Given the description of an element on the screen output the (x, y) to click on. 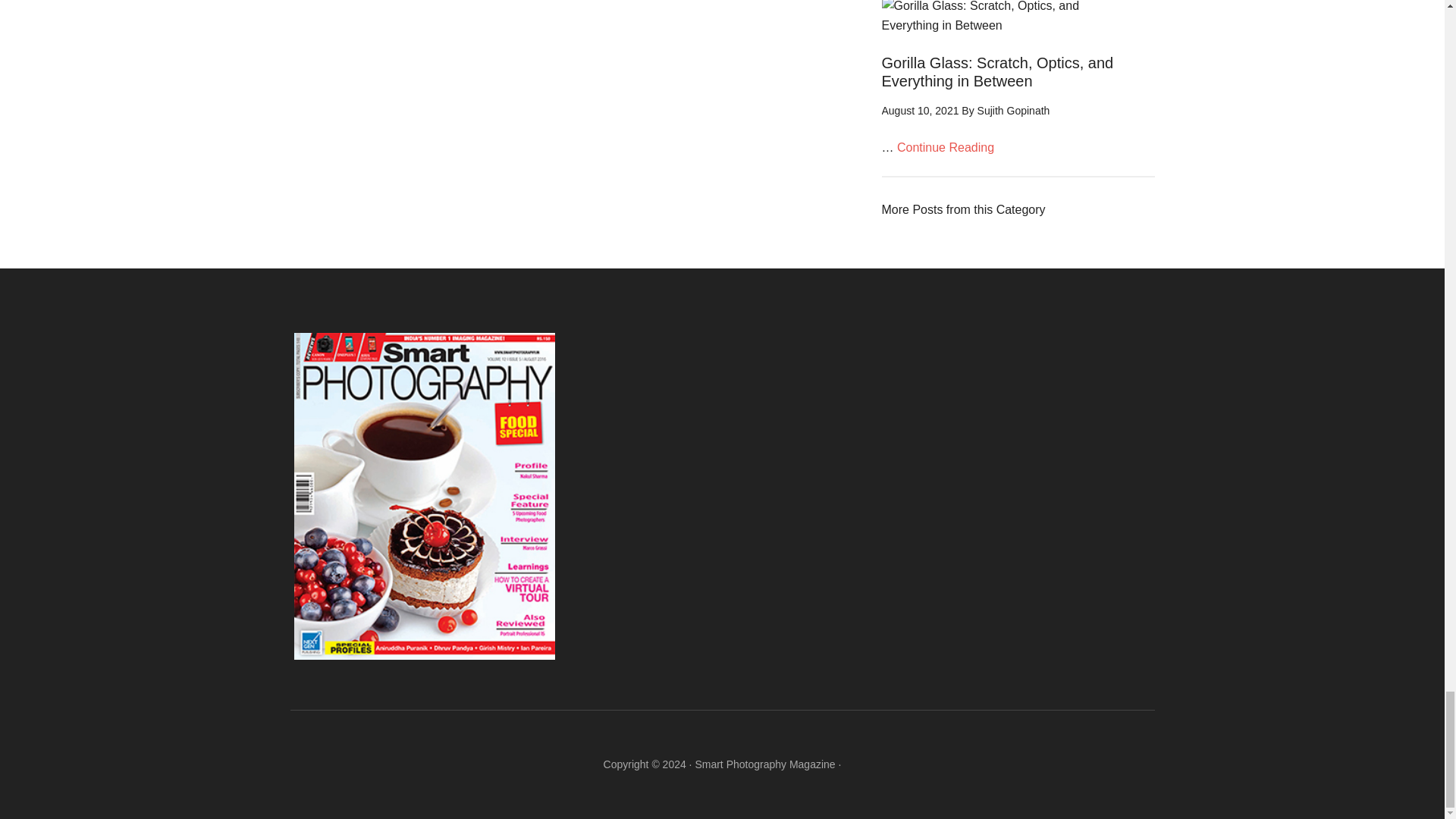
Specials (962, 209)
